Given the description of an element on the screen output the (x, y) to click on. 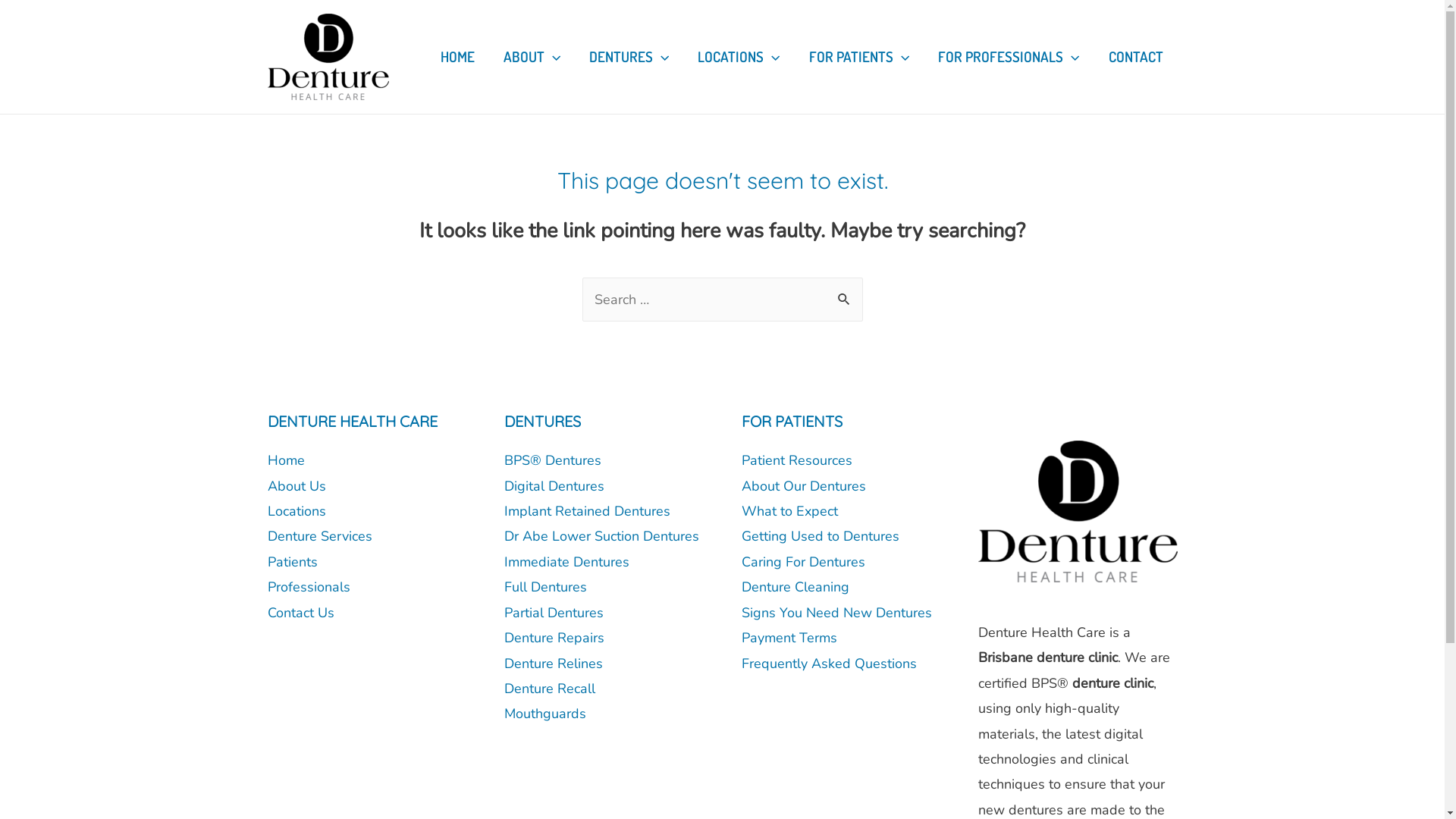
HOME Element type: text (457, 56)
Digital Dentures Element type: text (554, 485)
Getting Used to Dentures Element type: text (820, 536)
ABOUT Element type: text (531, 56)
Home Element type: text (285, 460)
About Our Dentures Element type: text (803, 485)
Payment Terms Element type: text (789, 637)
Denture Relines Element type: text (553, 663)
Signs You Need New Dentures Element type: text (836, 612)
Denture Cleaning Element type: text (795, 586)
Denture Recall Element type: text (549, 688)
Professionals Element type: text (307, 586)
DENTURES Element type: text (628, 56)
FOR PATIENTS Element type: text (858, 56)
Immediate Dentures Element type: text (566, 561)
Locations Element type: text (295, 511)
Partial Dentures Element type: text (553, 612)
LOCATIONS Element type: text (738, 56)
About Us Element type: text (295, 485)
Search Element type: text (845, 293)
Implant Retained Dentures Element type: text (587, 511)
Patients Element type: text (291, 561)
Patient Resources Element type: text (796, 460)
FOR PROFESSIONALS Element type: text (1008, 56)
Contact Us Element type: text (299, 612)
Frequently Asked Questions Element type: text (828, 663)
Denture Services Element type: text (318, 536)
Dr Abe Lower Suction Dentures Element type: text (601, 536)
Full Dentures Element type: text (545, 586)
CONTACT Element type: text (1134, 56)
Caring For Dentures Element type: text (803, 561)
Mouthguards Element type: text (545, 713)
What to Expect Element type: text (789, 511)
Denture Repairs Element type: text (554, 637)
